Given the description of an element on the screen output the (x, y) to click on. 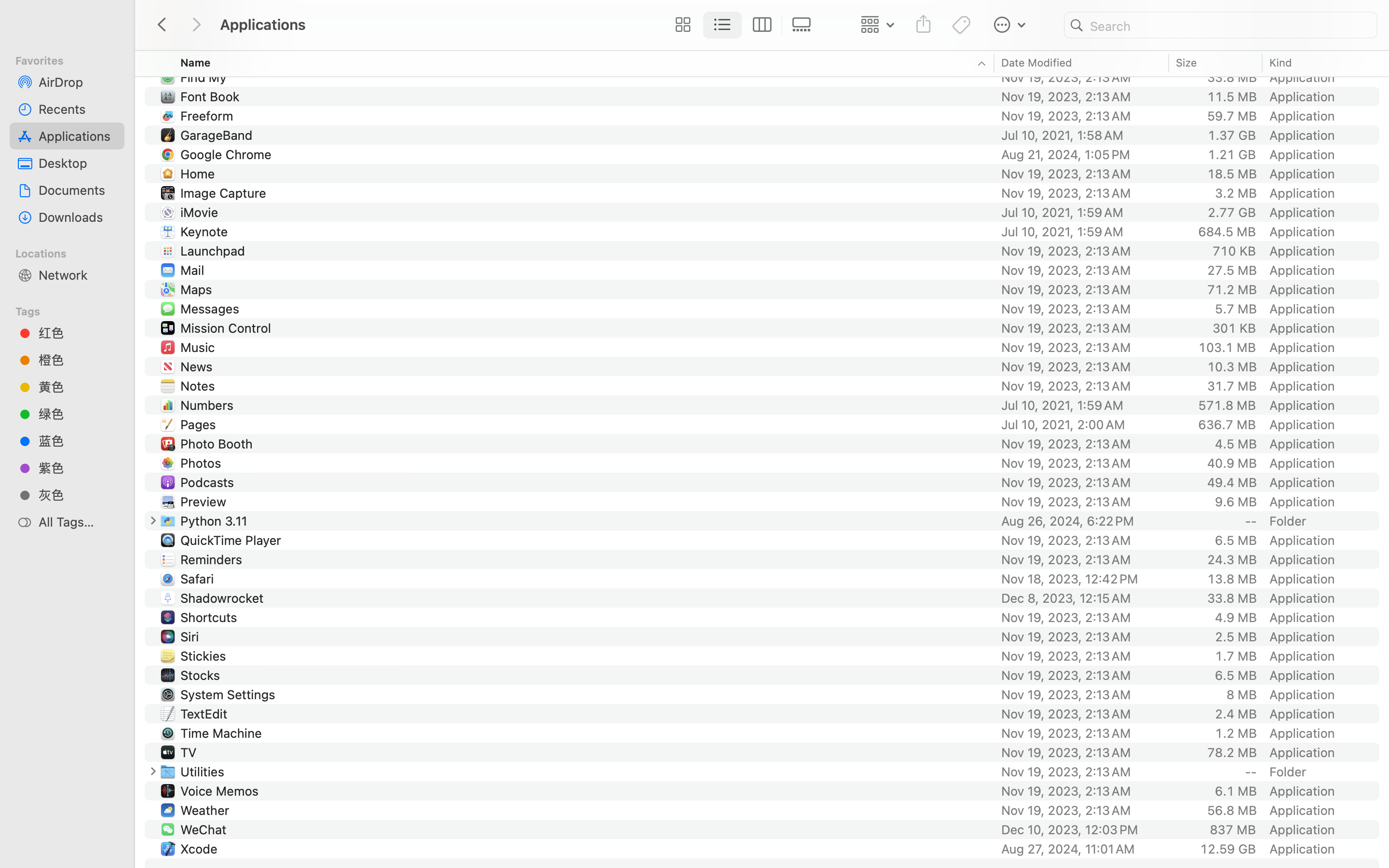
Image Capture Element type: AXTextField (225, 192)
Podcasts Element type: AXTextField (209, 481)
Dec 10, 2023, 12:03 PM Element type: AXStaticText (1081, 829)
Python 3.11 Element type: AXTextField (215, 520)
Maps Element type: AXTextField (197, 289)
